Given the description of an element on the screen output the (x, y) to click on. 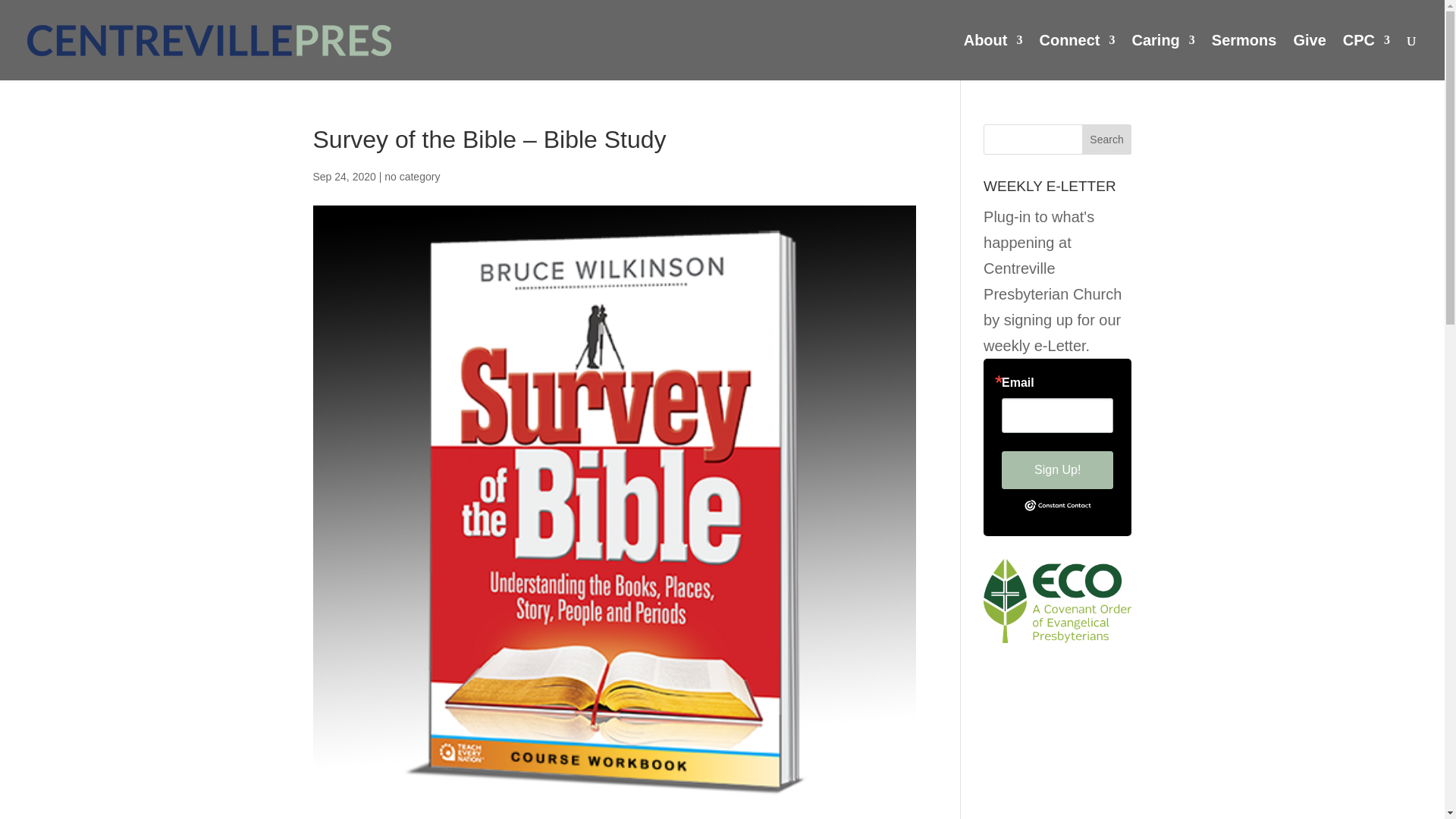
Give (1308, 57)
About (993, 57)
CPC (1366, 57)
Caring (1162, 57)
Sermons (1243, 57)
Connect (1077, 57)
Search (1106, 139)
